Given the description of an element on the screen output the (x, y) to click on. 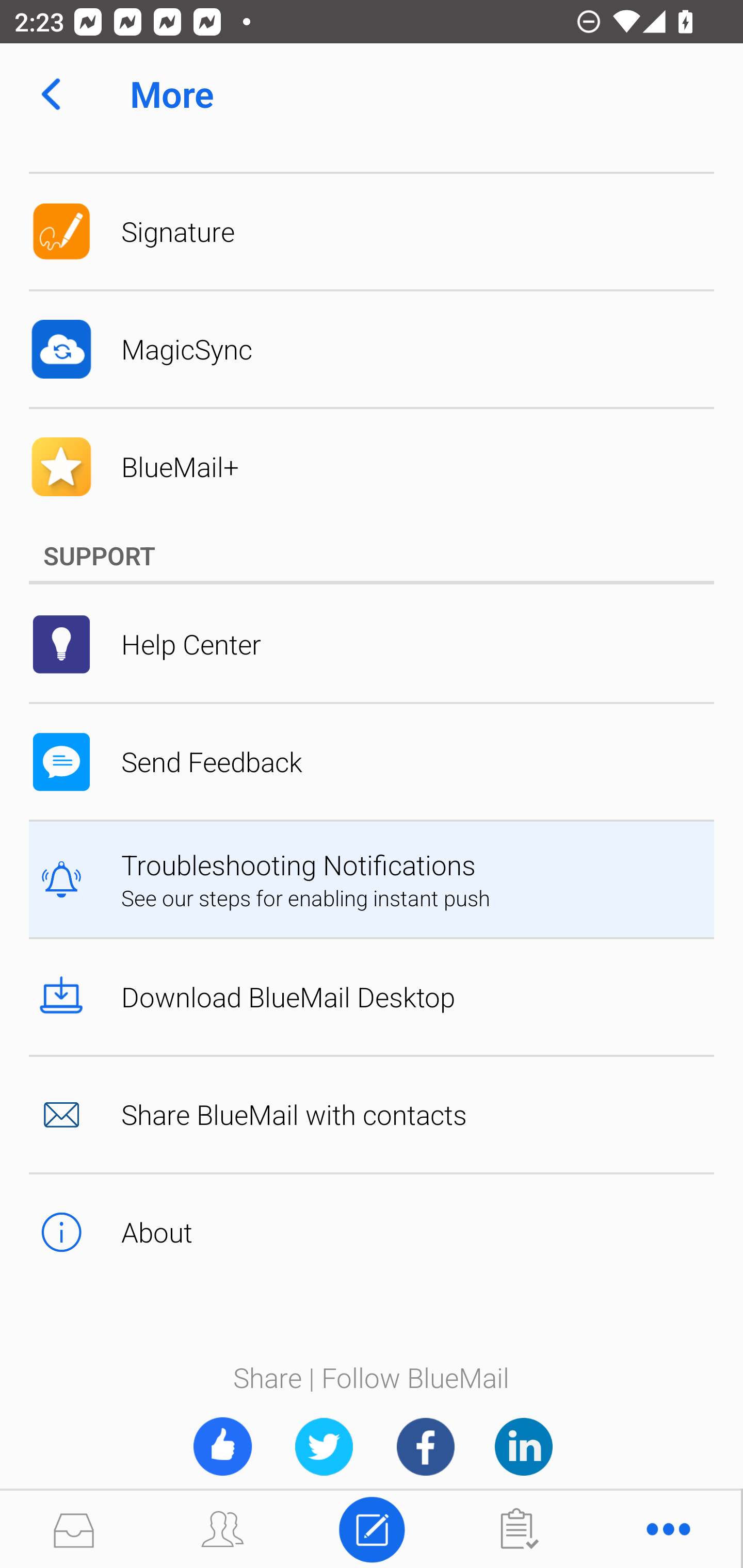
Navigate up (50, 93)
Signature (371, 232)
MagicSync (371, 349)
BlueMail+ (371, 467)
Help Center (371, 644)
Send Feedback (371, 762)
Download BlueMail Desktop (371, 997)
Share BlueMail with contacts (371, 1114)
About (371, 1232)
Invite Friends (222, 1446)
Follow us on Twitter (323, 1446)
Follow us on Facebook (425, 1446)
Follow us on Google plus (523, 1446)
